Given the description of an element on the screen output the (x, y) to click on. 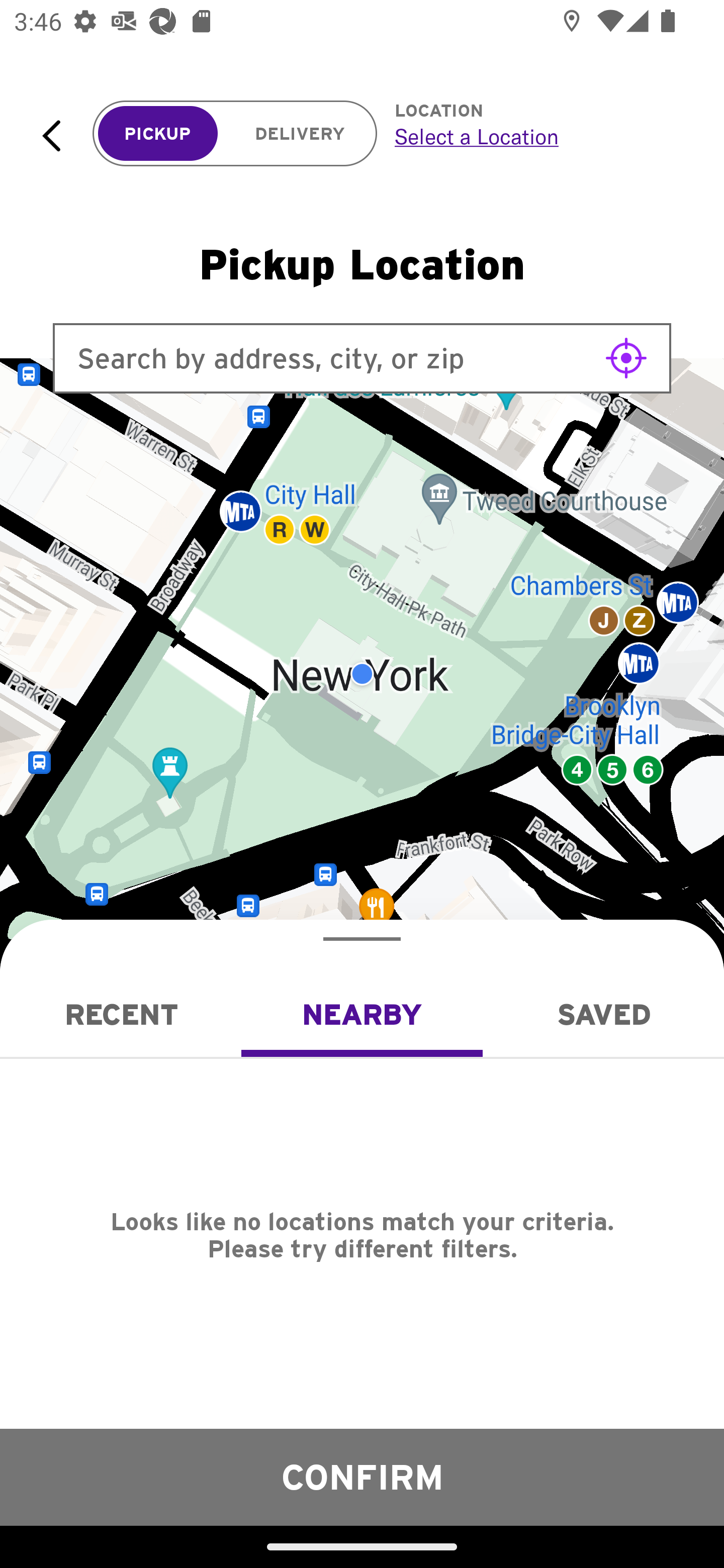
PICKUP (157, 133)
DELIVERY (299, 133)
Select a Location (536, 136)
Search by address, city, or zip (361, 358)
Google Map (362, 674)
Recent RECENT (120, 1014)
Saved SAVED (603, 1014)
CONFIRM (362, 1476)
